Given the description of an element on the screen output the (x, y) to click on. 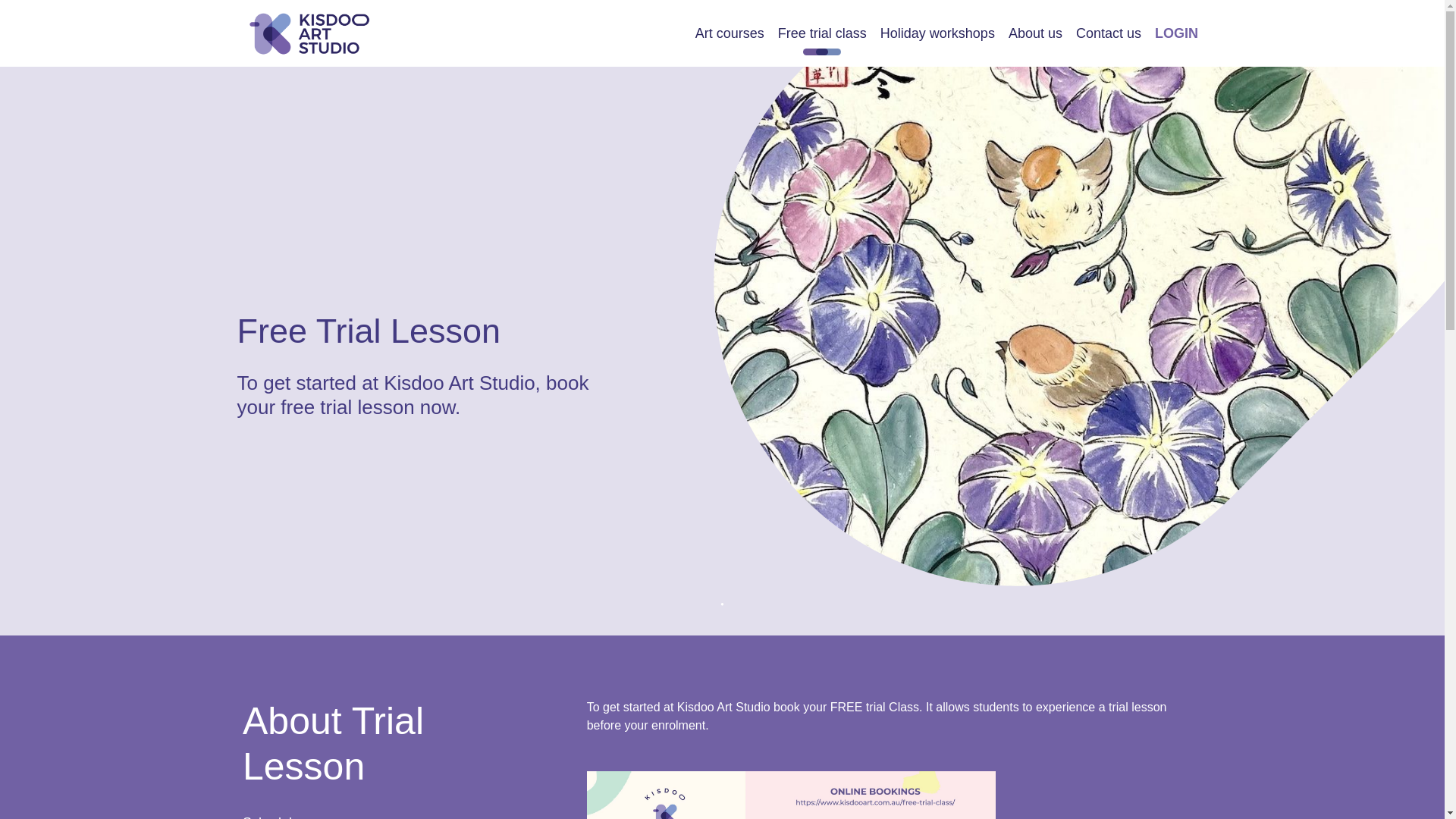
About us (1034, 33)
Contact us (1107, 33)
Art courses (729, 33)
Free trial class (822, 33)
1 (721, 604)
Holiday workshops (937, 33)
LOGIN (1176, 33)
